Given the description of an element on the screen output the (x, y) to click on. 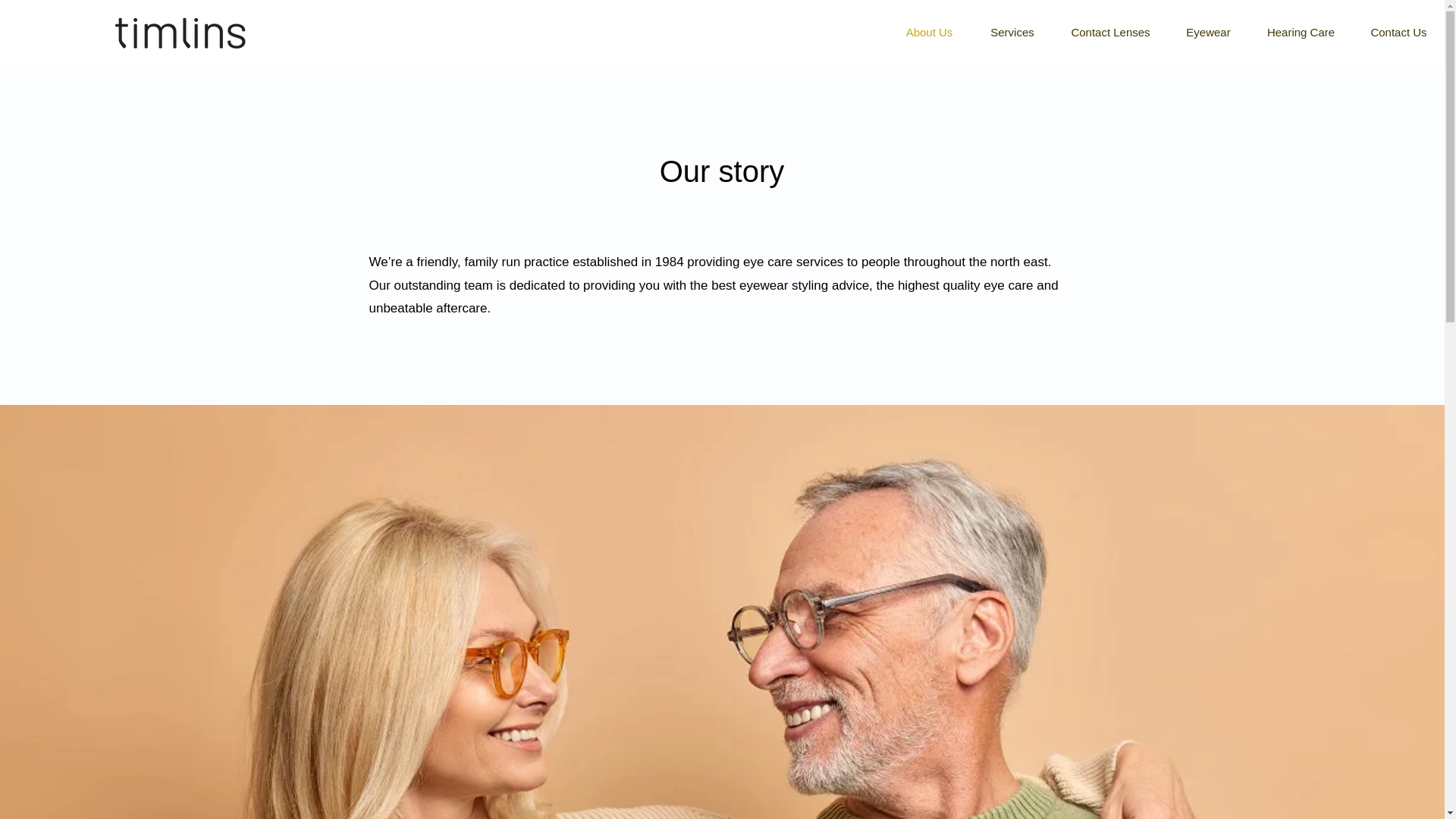
Hearing Care (1300, 32)
Eyewear (1208, 32)
Contact Lenses (1109, 32)
About Us (928, 32)
